Given the description of an element on the screen output the (x, y) to click on. 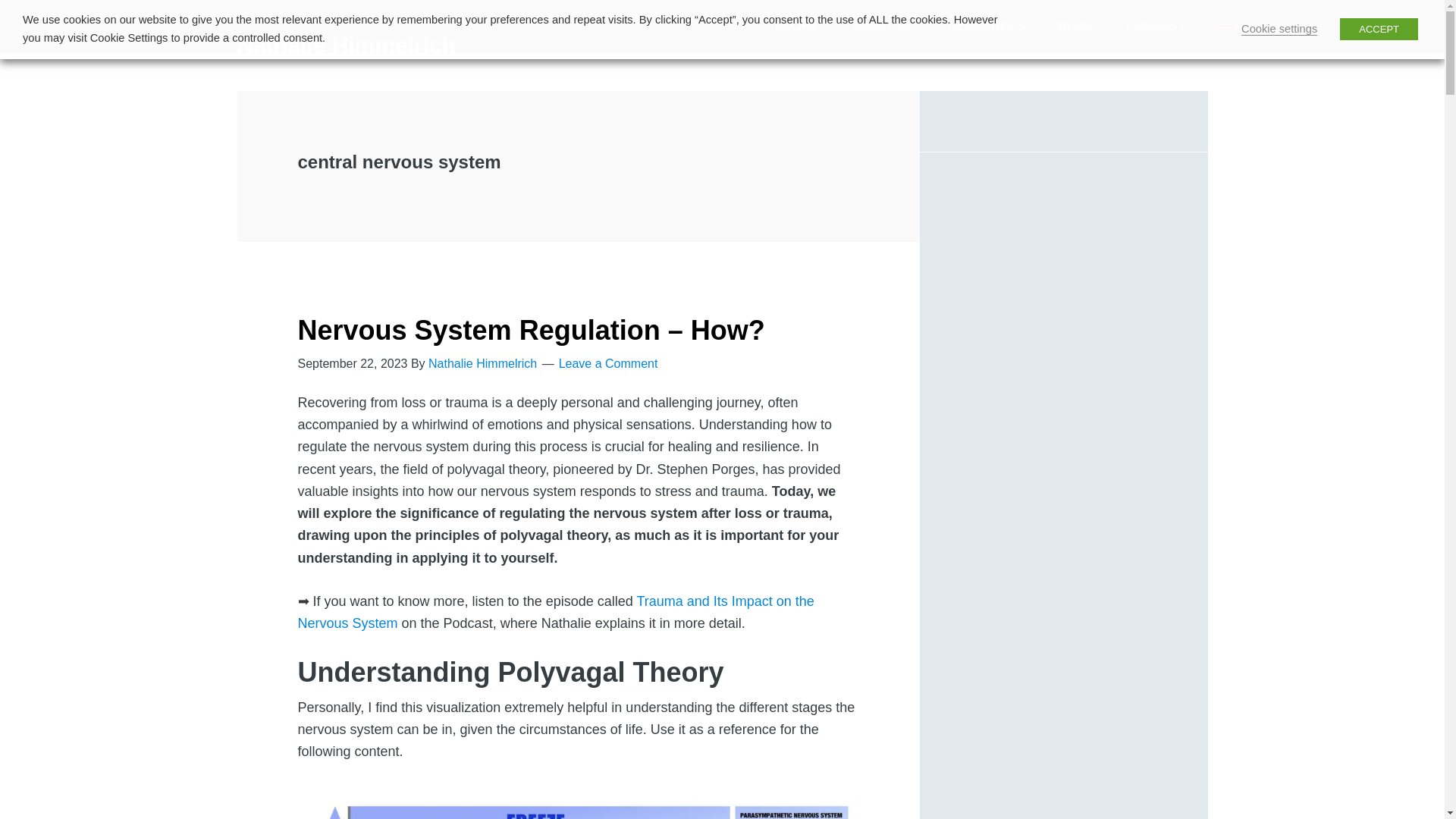
BOOKS (795, 26)
PODCAST (1154, 26)
ABOUT ME (882, 26)
Nathalie Himmelrich (344, 44)
RESOURCES (986, 26)
BLOG (1074, 26)
